Given the description of an element on the screen output the (x, y) to click on. 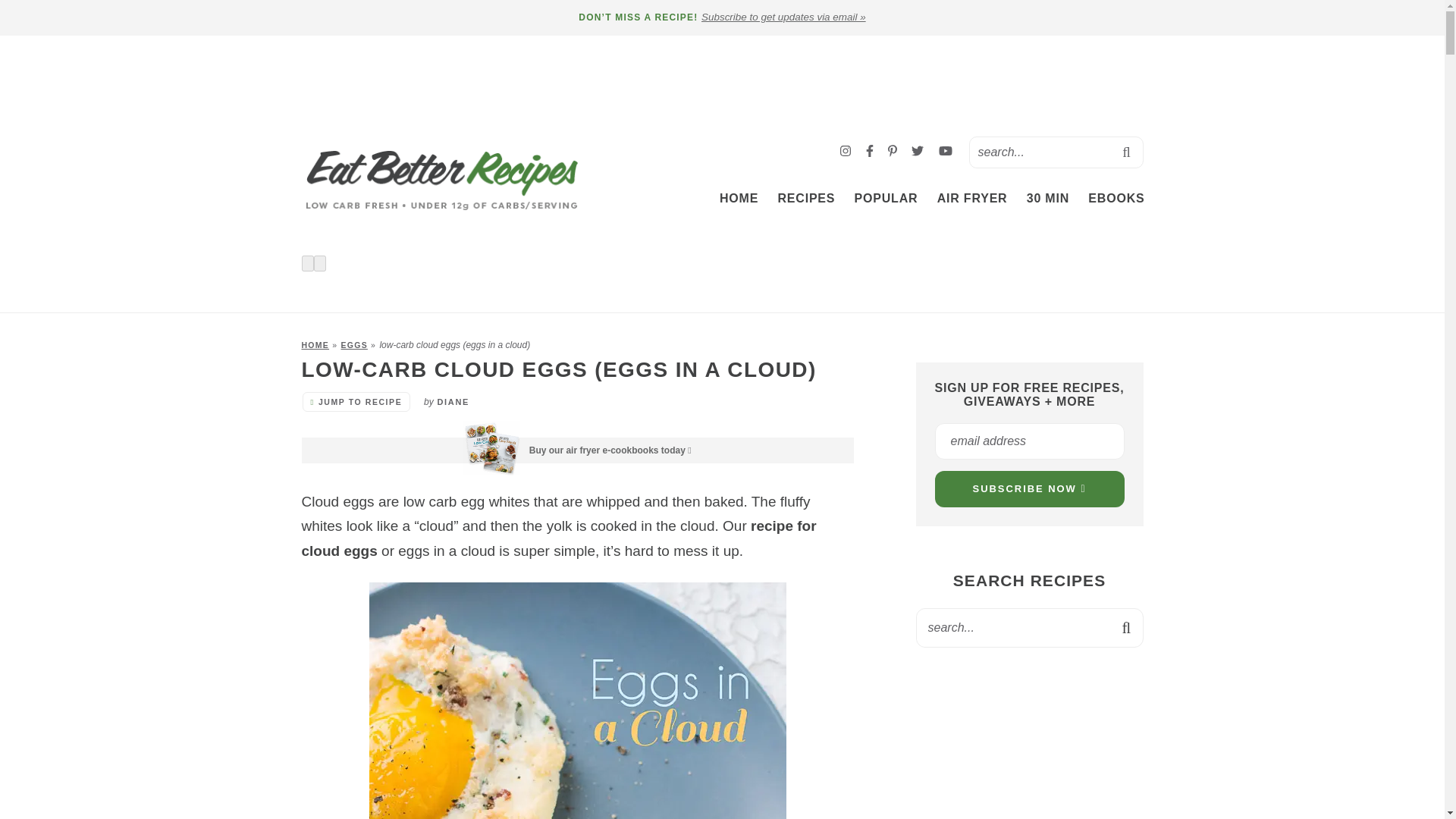
Eat Better Recipes (440, 180)
Facebook (871, 151)
Pinterest (893, 151)
Instagram (847, 151)
Diane (452, 401)
YouTube (945, 150)
Twitter (919, 151)
Twitter (917, 150)
YouTube (944, 151)
